Given the description of an element on the screen output the (x, y) to click on. 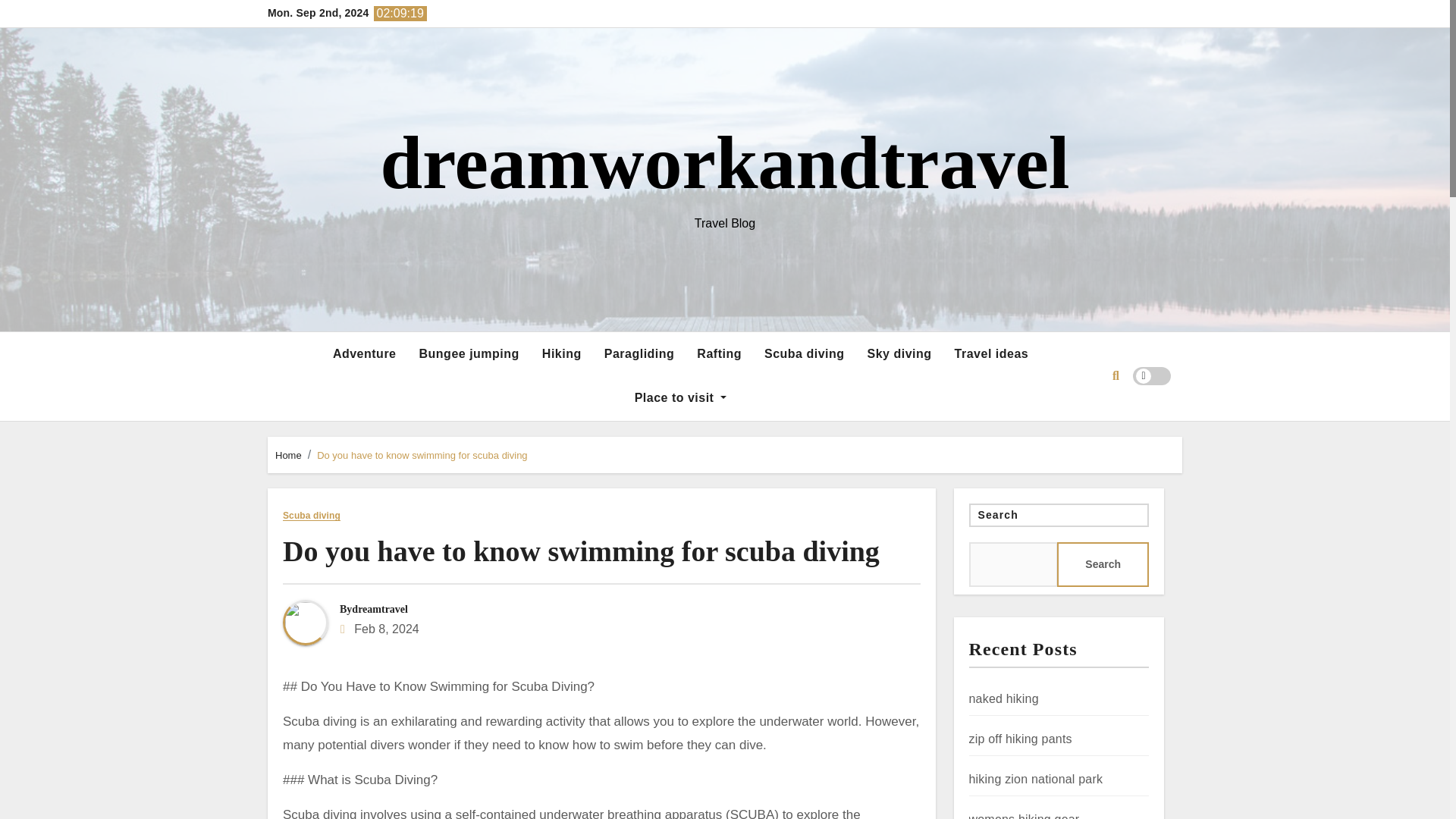
Home (288, 455)
Scuba diving (804, 353)
Travel ideas (992, 353)
Place to visit (680, 397)
Sky diving (899, 353)
Paragliding (638, 353)
dreamworkandtravel (724, 162)
Hiking (561, 353)
Rafting (718, 353)
Paragliding (638, 353)
